Given the description of an element on the screen output the (x, y) to click on. 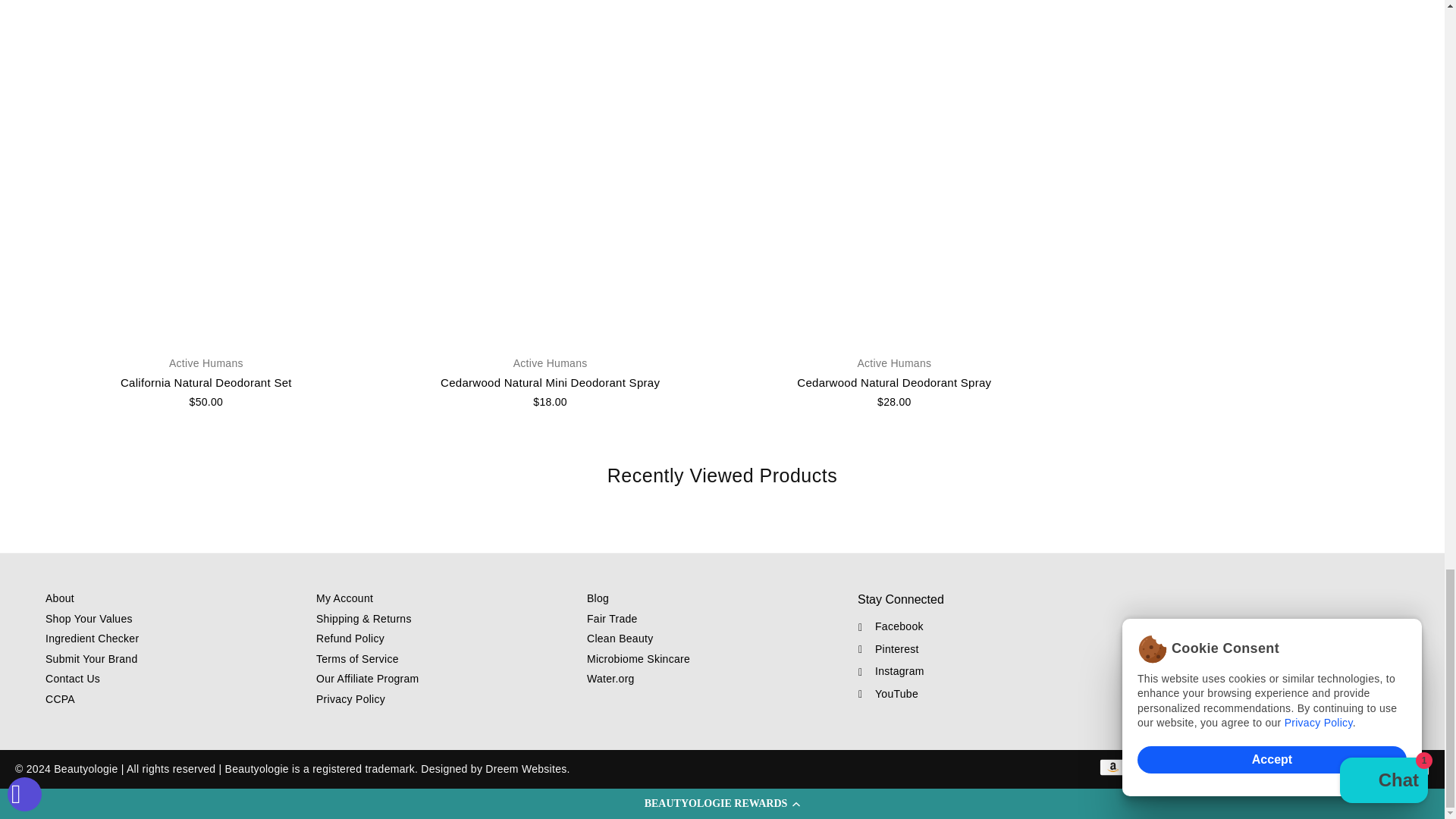
PayPal (1324, 767)
Meta Pay (1234, 767)
American Express (1142, 767)
Apple Pay (1173, 767)
Shop Pay (1355, 767)
Amazon (1112, 767)
Discover (1204, 767)
Google Pay (1264, 767)
Mastercard (1294, 767)
